Given the description of an element on the screen output the (x, y) to click on. 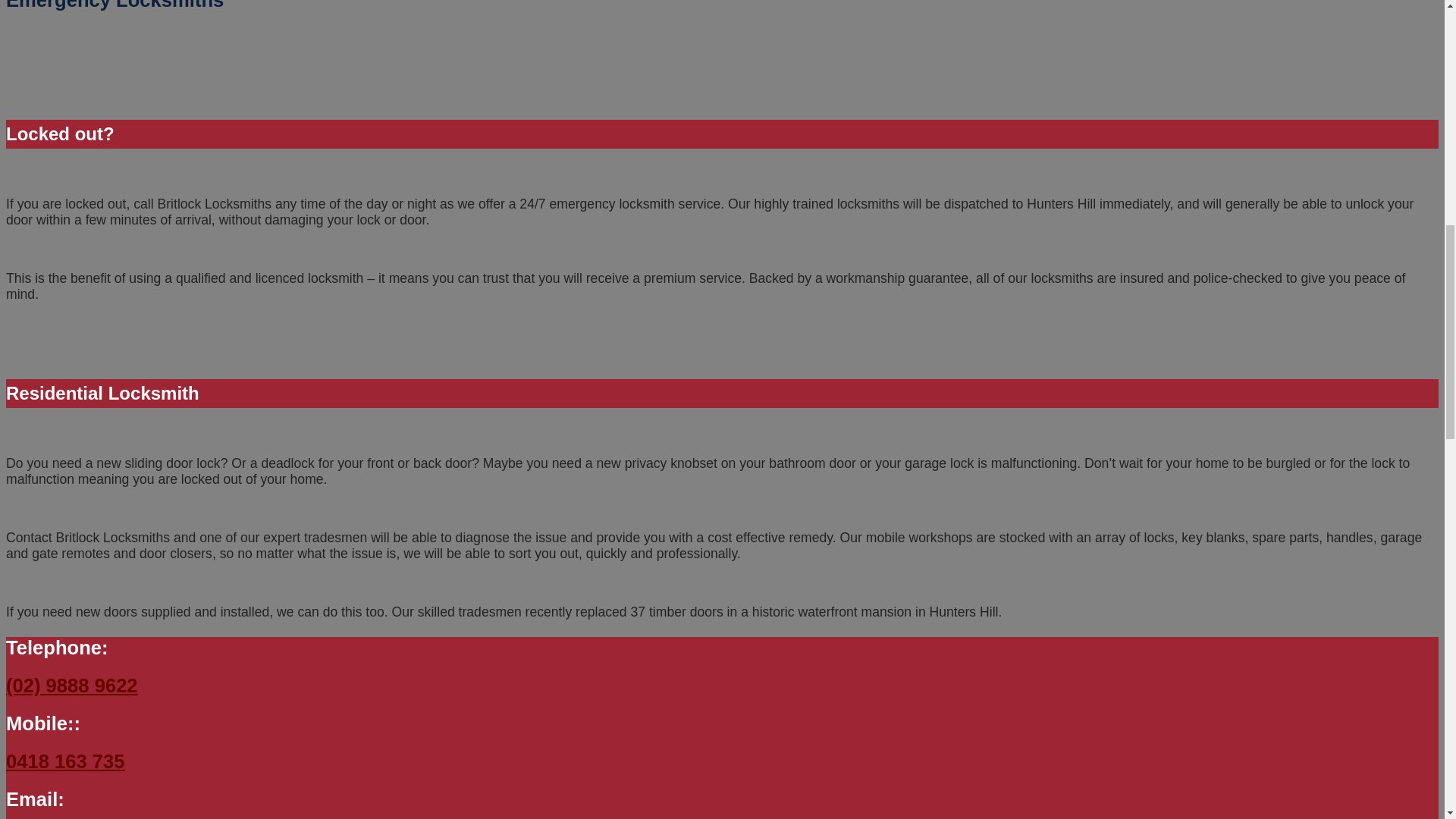
0418 163 735 (65, 761)
